Given the description of an element on the screen output the (x, y) to click on. 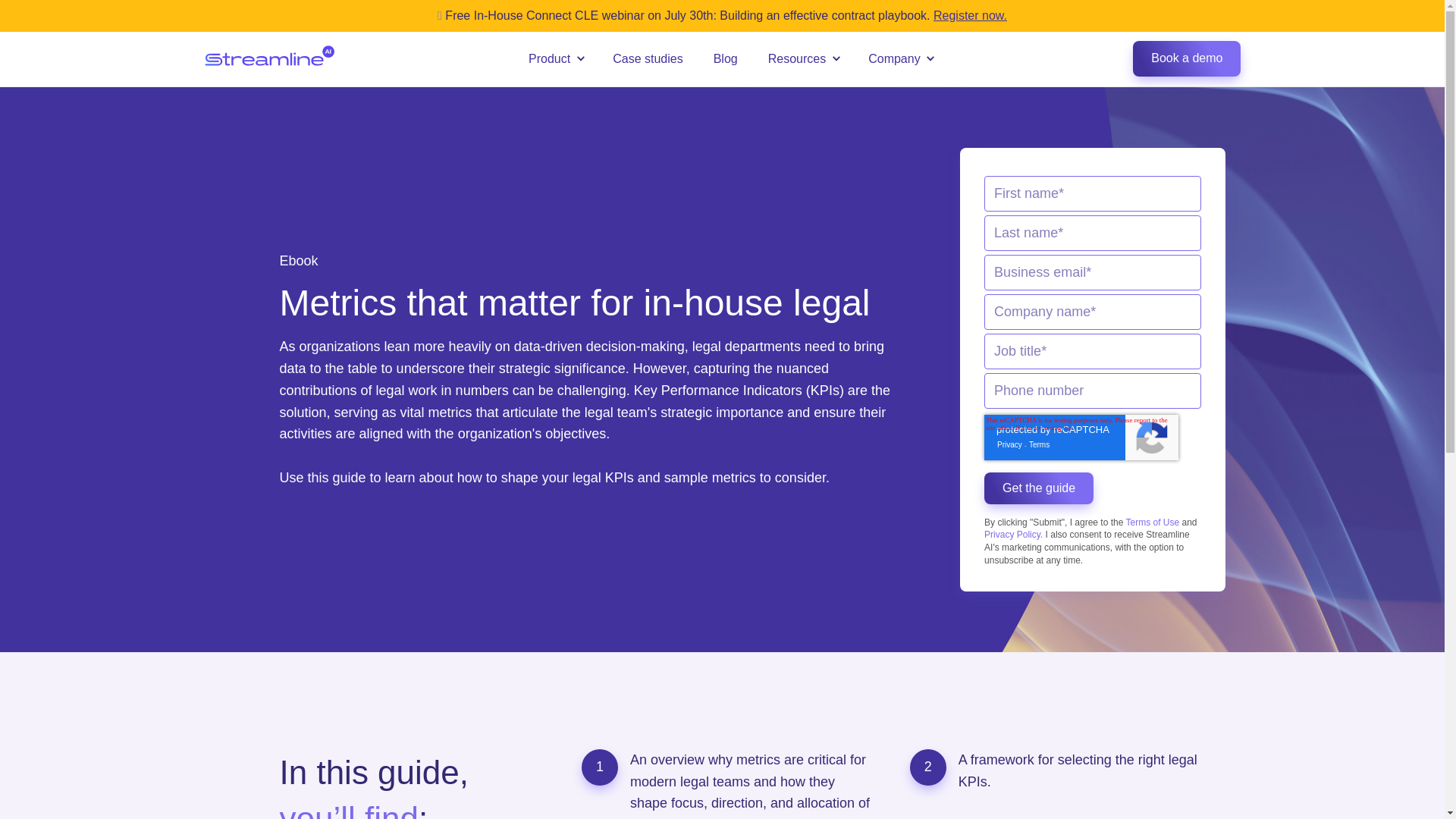
Terms of Use (1152, 521)
Get the guide (1038, 488)
Register now. (970, 15)
reCAPTCHA (1080, 437)
Privacy Policy. (1014, 534)
Blog (725, 58)
Case studies (647, 58)
Book a demo (1186, 58)
Get the guide (1038, 488)
